Given the description of an element on the screen output the (x, y) to click on. 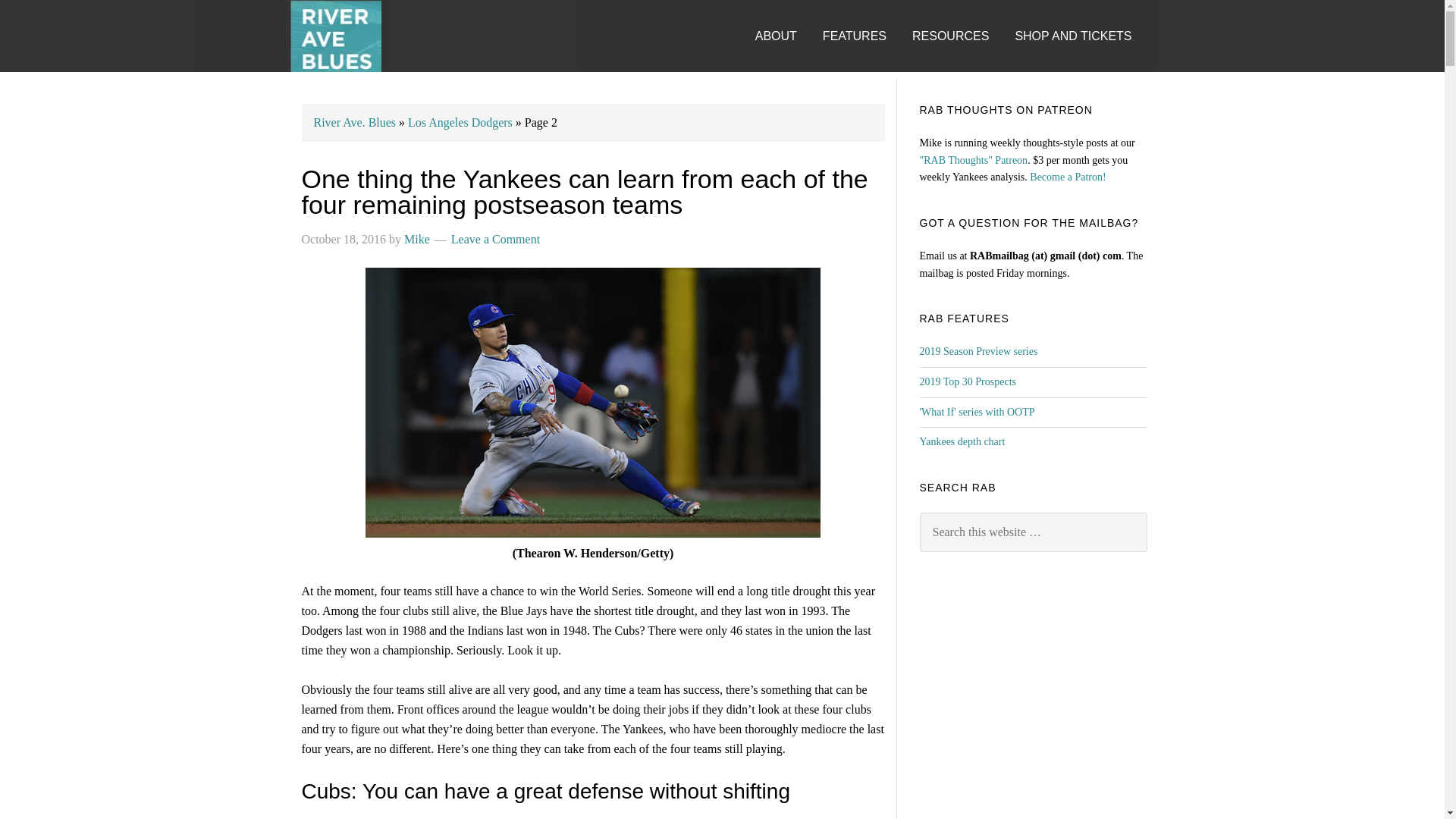
River Ave. Blues (355, 122)
FEATURES (865, 21)
Los Angeles Dodgers (459, 122)
ABOUT (787, 21)
Leave a Comment (495, 238)
RIVER AVENUE BLUES (334, 36)
Mike (416, 238)
SHOP AND TICKETS (1084, 21)
RESOURCES (961, 21)
